Given the description of an element on the screen output the (x, y) to click on. 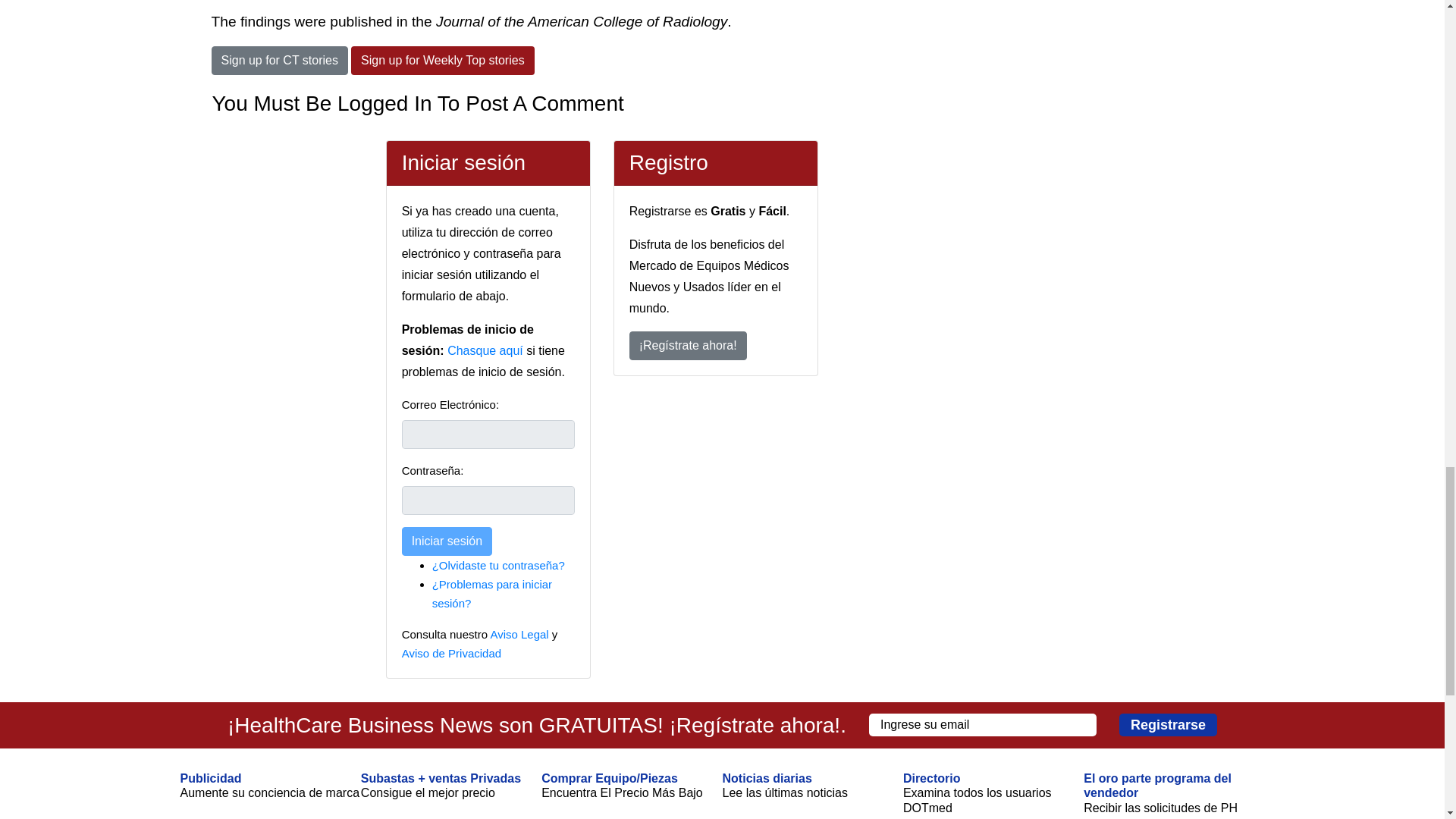
Login Problems? (491, 593)
Register Now! (687, 345)
Forget your password? (498, 564)
